Given the description of an element on the screen output the (x, y) to click on. 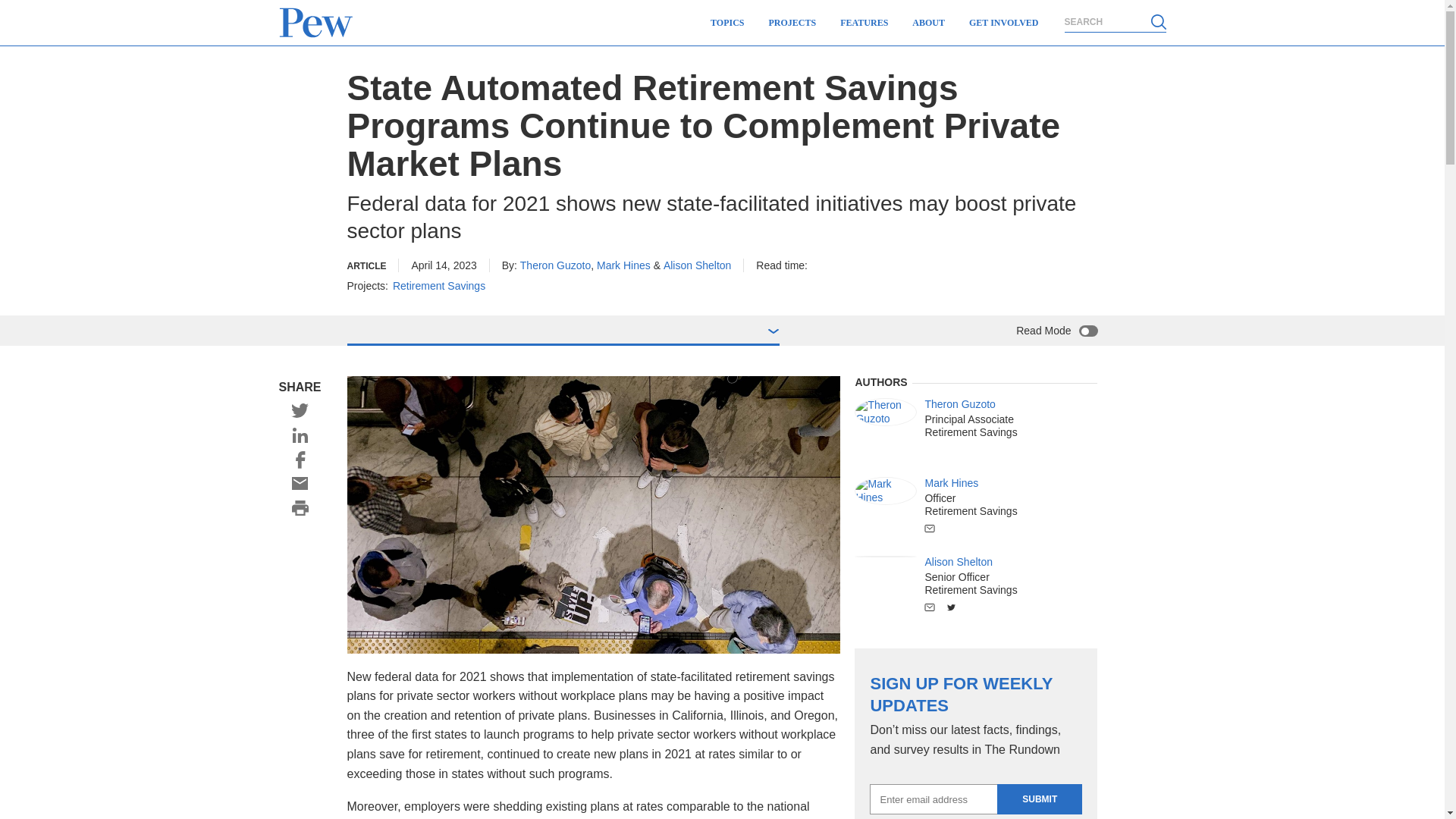
Theron Guzoto (885, 411)
TOPICS (726, 22)
PROJECTS (792, 22)
Mark Hines  (885, 490)
Submit (1039, 798)
